Given the description of an element on the screen output the (x, y) to click on. 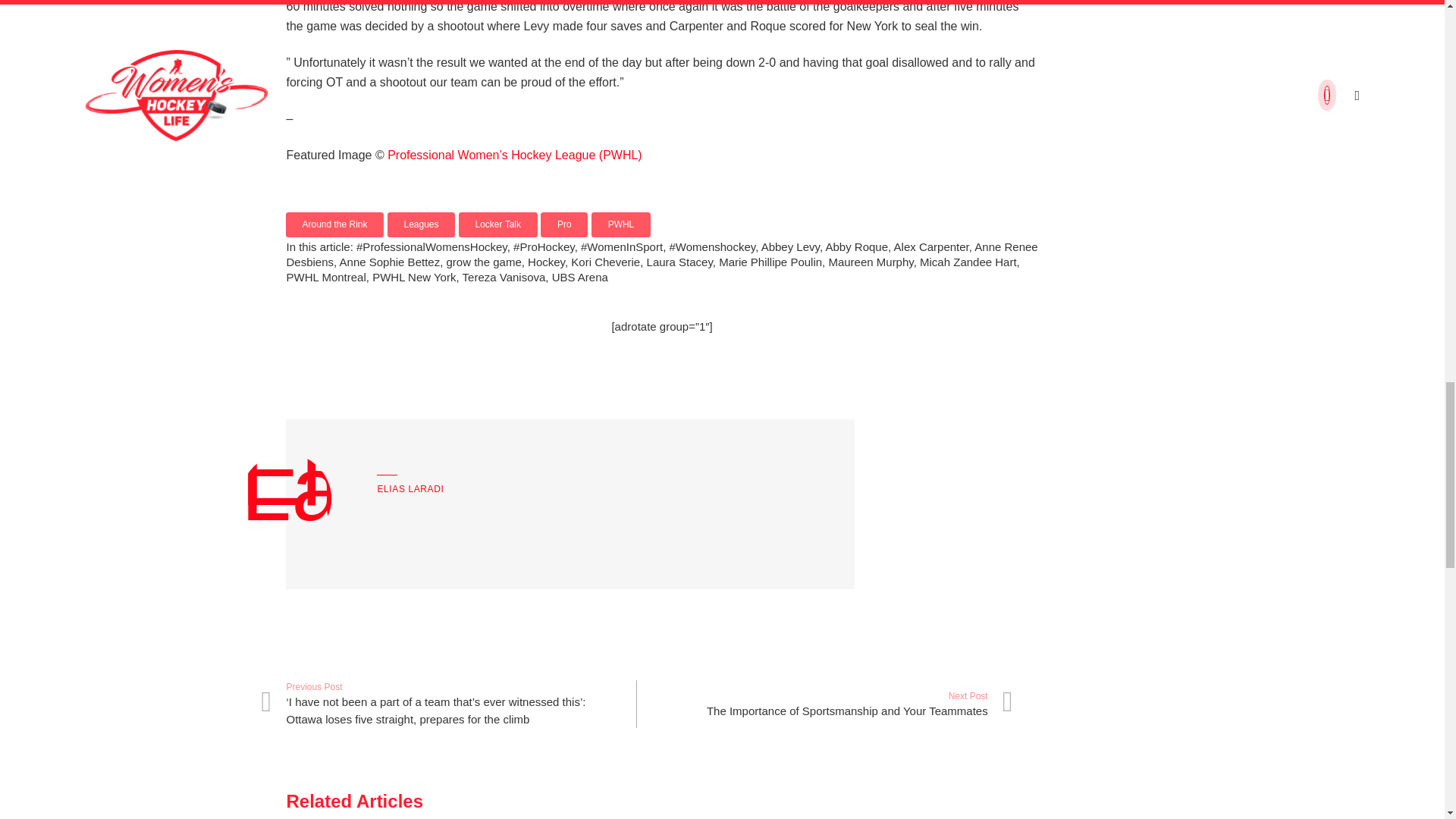
The Importance of Sportsmanship and Your Teammates (825, 704)
